Given the description of an element on the screen output the (x, y) to click on. 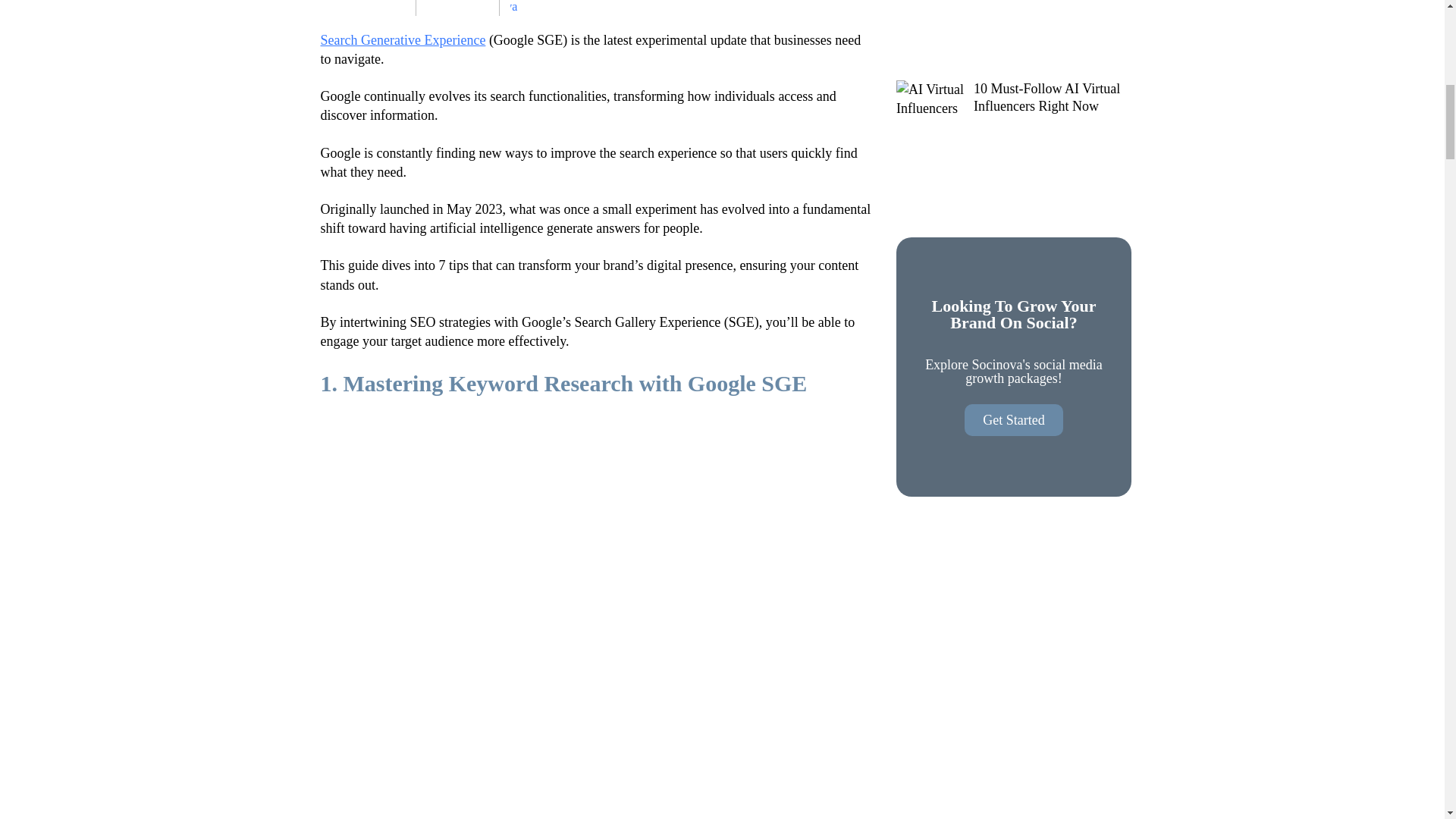
Search Generative Experience (402, 39)
Socinova (539, 7)
